Given the description of an element on the screen output the (x, y) to click on. 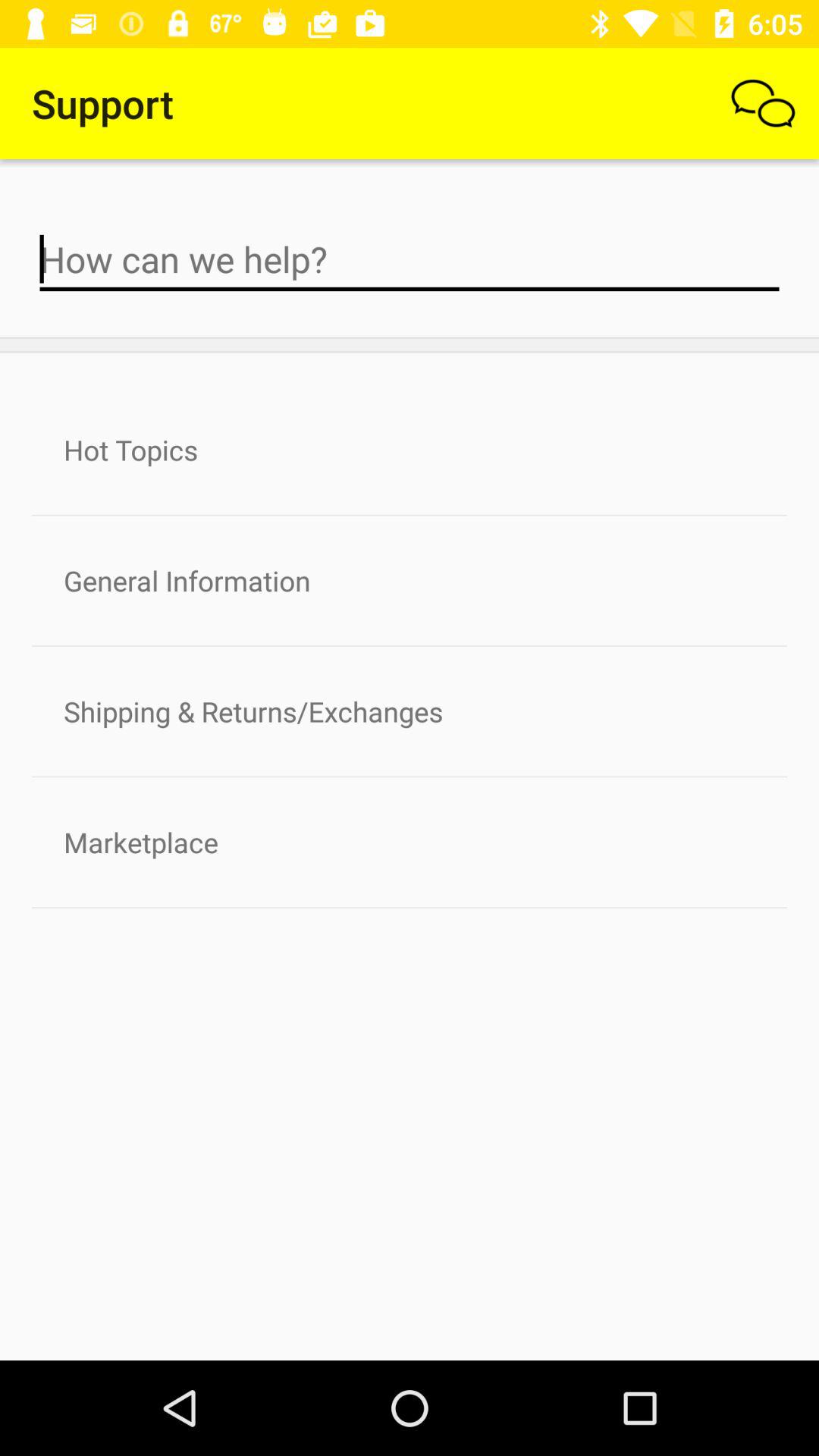
swipe to hot topics (409, 449)
